Given the description of an element on the screen output the (x, y) to click on. 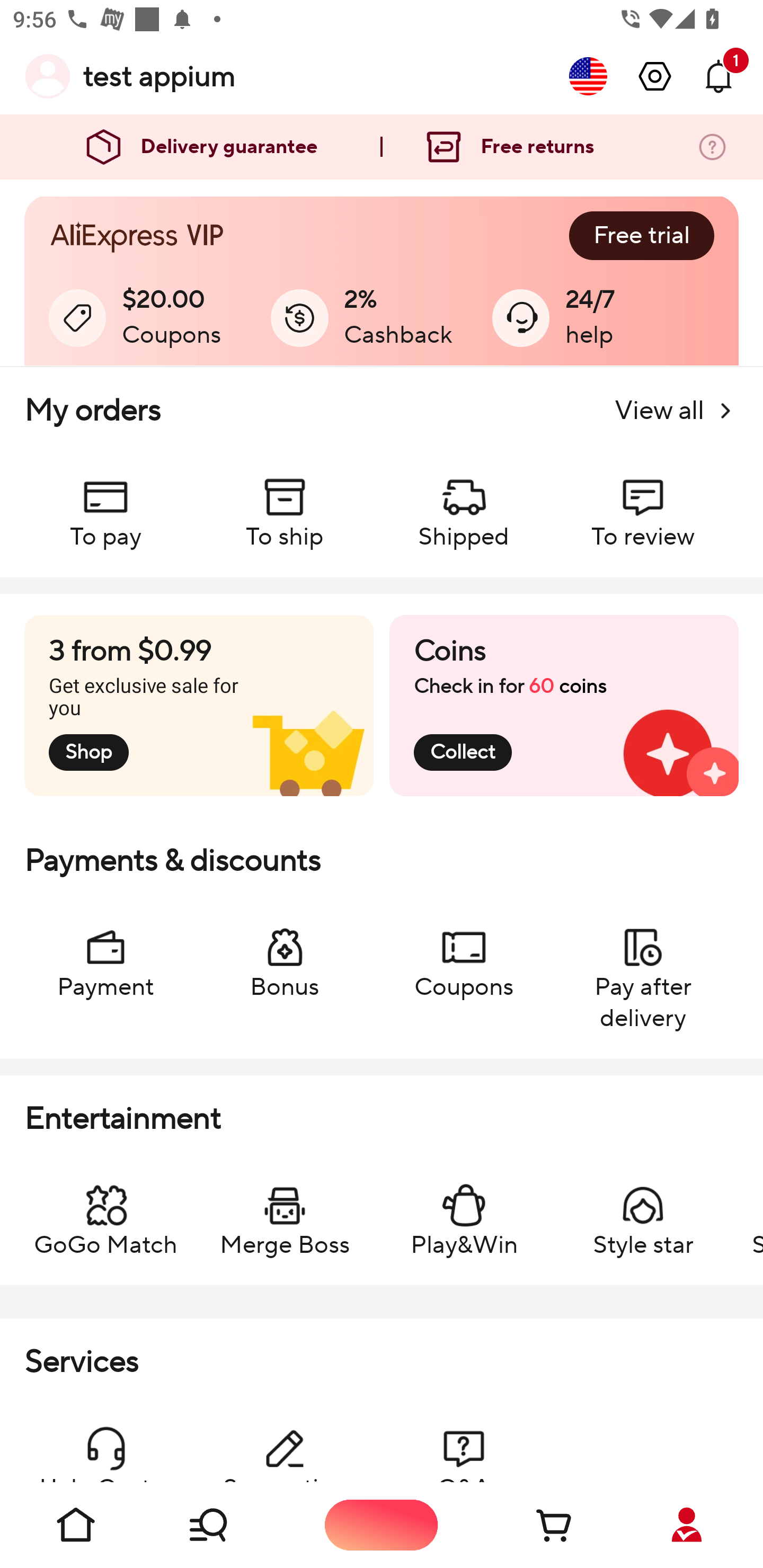
 (654, 75)
Messages 1 (718, 75)
test appium (158, 75)
Free trial $20.00 Coupons 2% Cashback 24/7 help (381, 281)
View all (676, 410)
To pay (105, 503)
To ship (284, 503)
Shipped (463, 503)
To review (642, 503)
3 from $0.99 Get exclusive sale for you Shop (198, 705)
Coins Check in for 60 coins Collect (563, 705)
Payment (105, 953)
Bonus (284, 953)
Coupons (463, 953)
Pay after delivery (642, 969)
GoGo Match (105, 1211)
Merge Boss (284, 1211)
Play&Win (463, 1211)
Style star (642, 1211)
Help Center (105, 1443)
Suggestion (284, 1443)
Q&A (463, 1443)
Home (76, 1524)
Shop (228, 1524)
Cart (533, 1524)
